Given the description of an element on the screen output the (x, y) to click on. 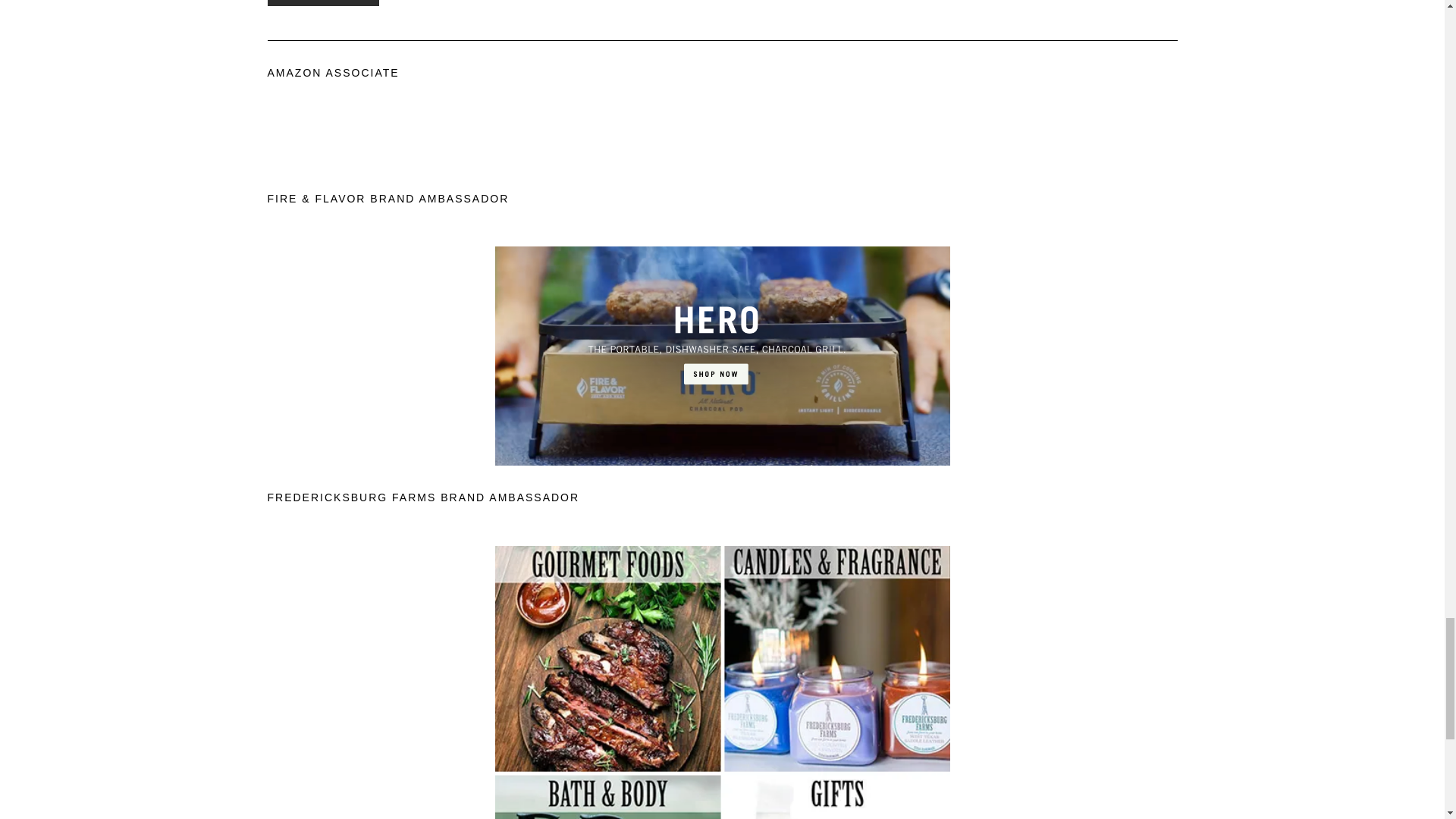
Post Comment (322, 2)
